Given the description of an element on the screen output the (x, y) to click on. 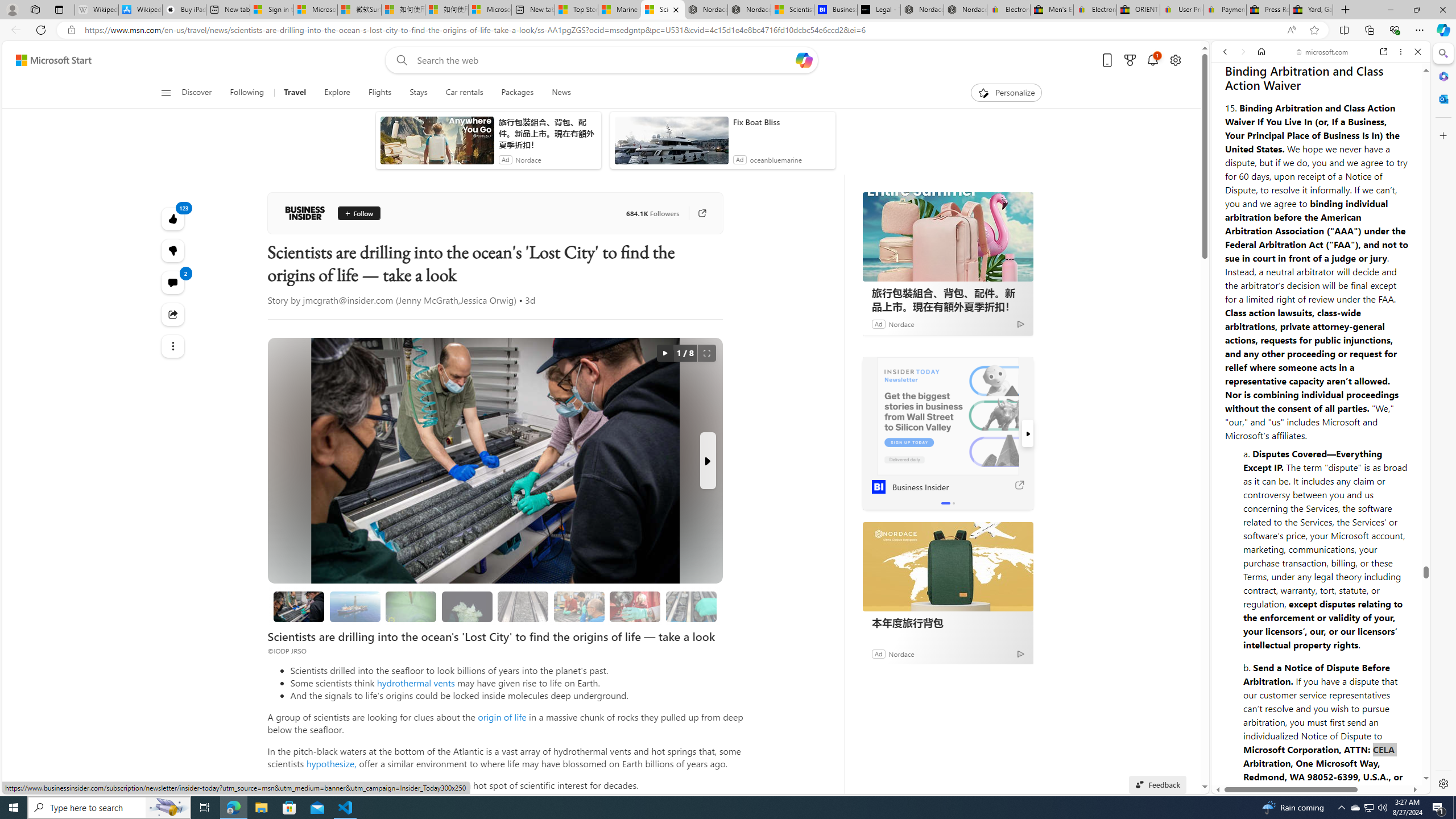
hypothesize, (330, 763)
Packages (517, 92)
The Lost City could hold clues to the origin of life. (466, 606)
Researchers are still studying the samples (690, 606)
Full screen (706, 352)
